Given the description of an element on the screen output the (x, y) to click on. 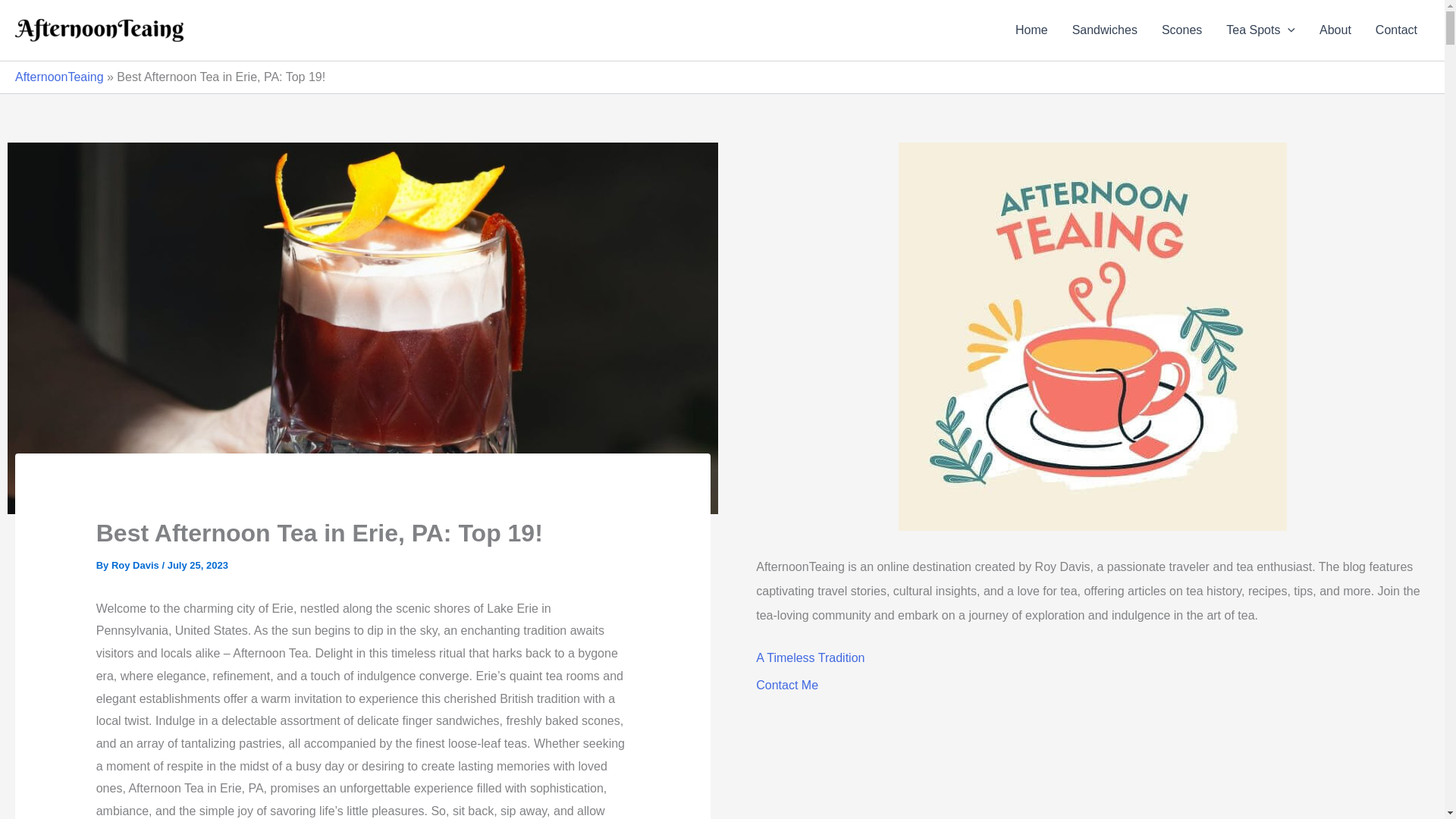
Roy Davis (136, 564)
About (1334, 30)
Home (1031, 30)
View all posts by Roy Davis (136, 564)
Sandwiches (1104, 30)
Contact (1395, 30)
AfternoonTeaing (58, 76)
Tea Spots (1260, 30)
Scones (1182, 30)
